Given the description of an element on the screen output the (x, y) to click on. 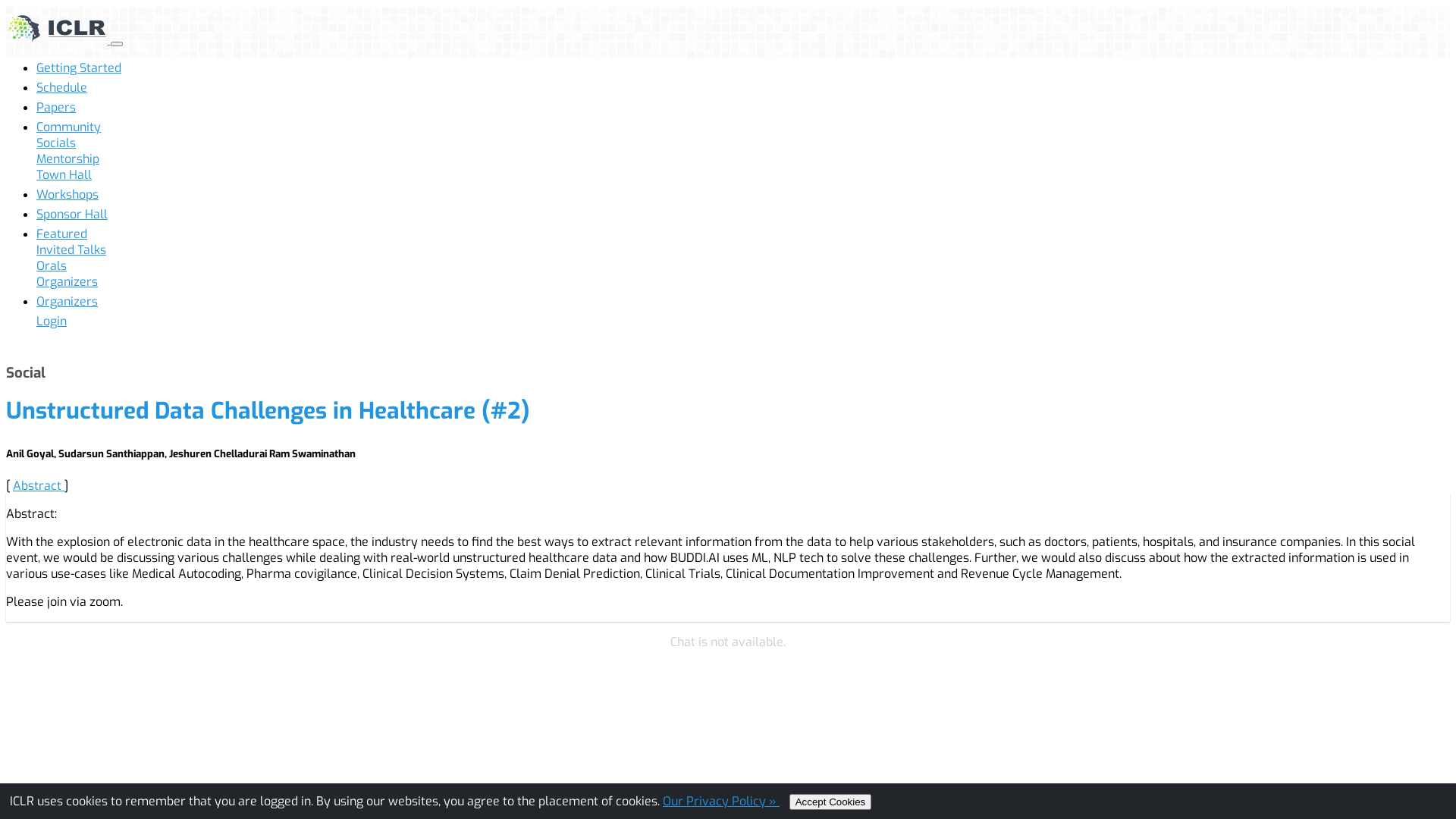
Community Element type: text (68, 126)
Featured Element type: text (61, 233)
Organizers Element type: text (66, 281)
Getting Started Element type: text (78, 67)
Accept Cookies Element type: text (830, 801)
Mentorship Element type: text (67, 158)
Sponsor Hall Element type: text (71, 214)
Town Hall Element type: text (63, 174)
Schedule Element type: text (61, 87)
Invited Talks Element type: text (71, 249)
Workshops Element type: text (67, 194)
Papers Element type: text (55, 107)
Socials Element type: text (55, 142)
Orals Element type: text (51, 265)
Organizers Element type: text (66, 301)
Login Element type: text (51, 321)
Abstract Element type: text (38, 485)
